Given the description of an element on the screen output the (x, y) to click on. 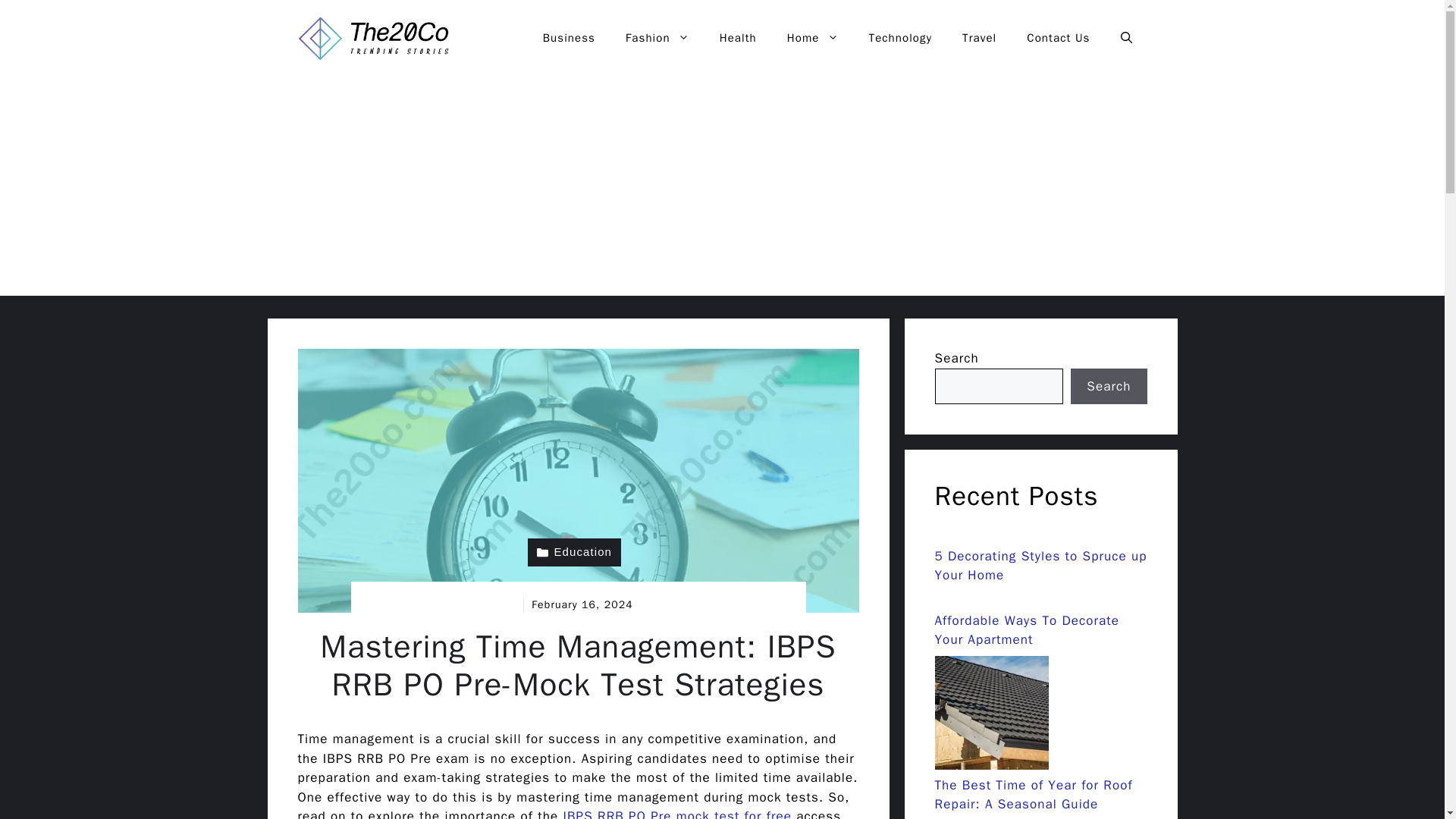
Travel (979, 37)
Home (812, 37)
IBPS RRB PO Pre mock test for free (677, 813)
Fashion (657, 37)
Business (568, 37)
Education (574, 552)
Technology (900, 37)
Health (737, 37)
Contact Us (1058, 37)
